Given the description of an element on the screen output the (x, y) to click on. 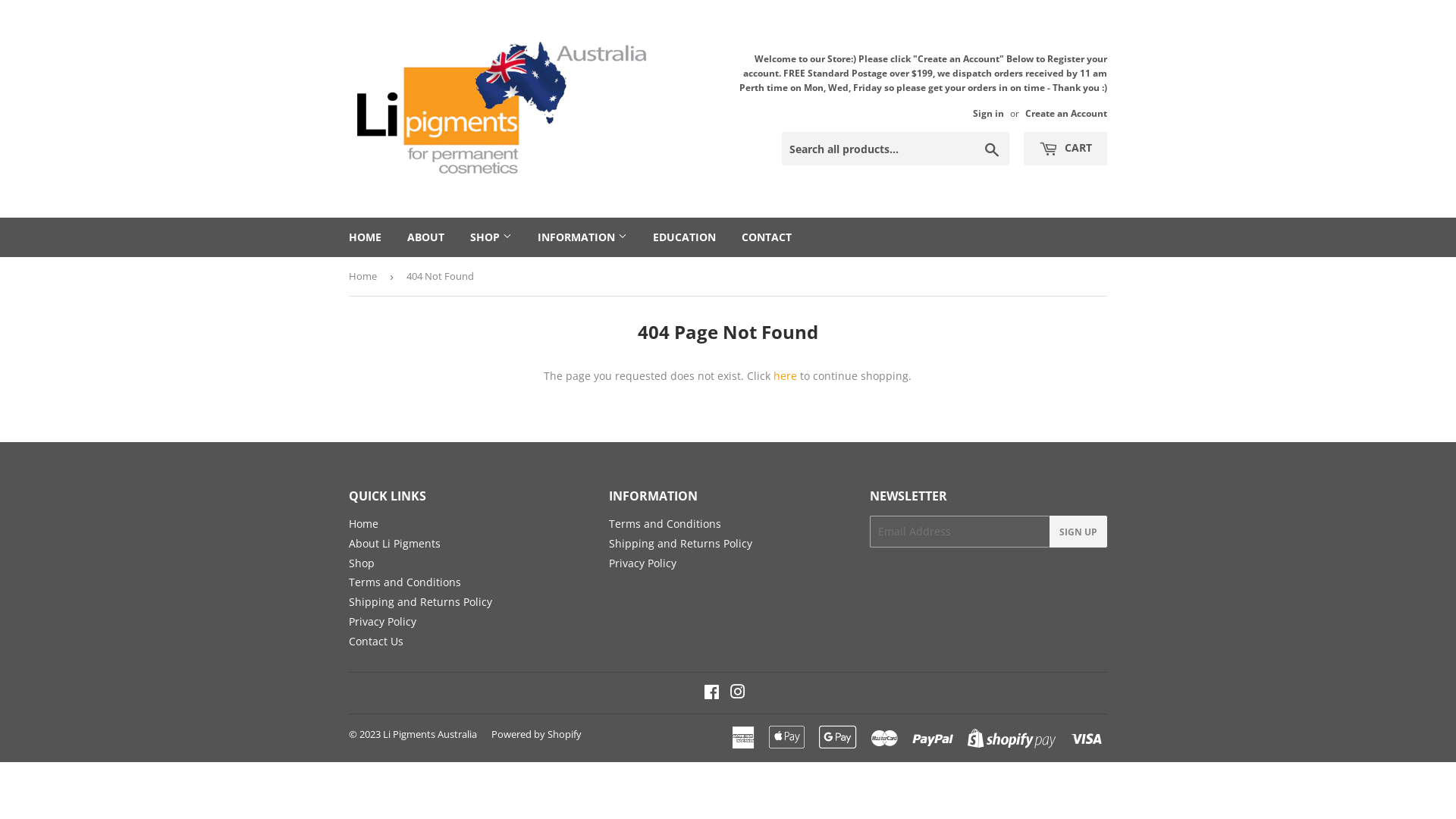
ABOUT Element type: text (425, 237)
SHOP Element type: text (490, 237)
SIGN UP Element type: text (1078, 531)
Sign in Element type: text (988, 112)
Create an Account Element type: text (1066, 112)
Home Element type: text (365, 276)
About Li Pigments Element type: text (394, 543)
Shipping and Returns Policy Element type: text (680, 543)
Privacy Policy Element type: text (382, 621)
Li Pigments Australia Element type: text (429, 733)
Shop Element type: text (361, 562)
Privacy Policy Element type: text (642, 562)
INFORMATION Element type: text (582, 237)
HOME Element type: text (364, 237)
Home Element type: text (363, 523)
CART Element type: text (1065, 148)
here Element type: text (785, 375)
Contact Us Element type: text (375, 640)
Powered by Shopify Element type: text (536, 733)
Terms and Conditions Element type: text (404, 581)
EDUCATION Element type: text (684, 237)
CONTACT Element type: text (766, 237)
Shipping and Returns Policy Element type: text (420, 601)
Facebook Element type: text (711, 693)
Instagram Element type: text (736, 693)
Search Element type: text (992, 149)
Terms and Conditions Element type: text (664, 523)
